Given the description of an element on the screen output the (x, y) to click on. 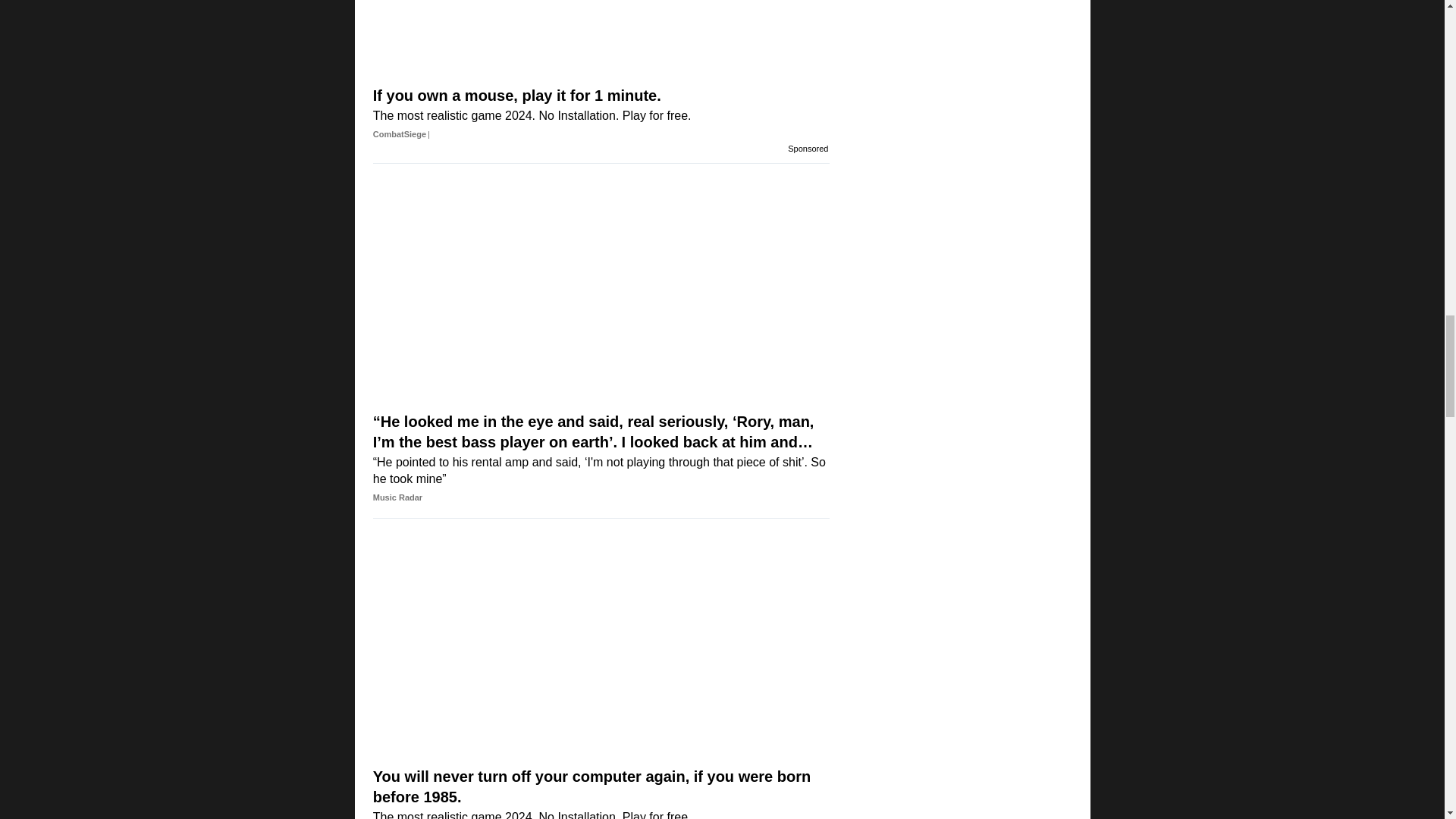
If you own a mouse, play it for 1 minute. (600, 40)
If you own a mouse, play it for 1 minute. (600, 114)
